Given the description of an element on the screen output the (x, y) to click on. 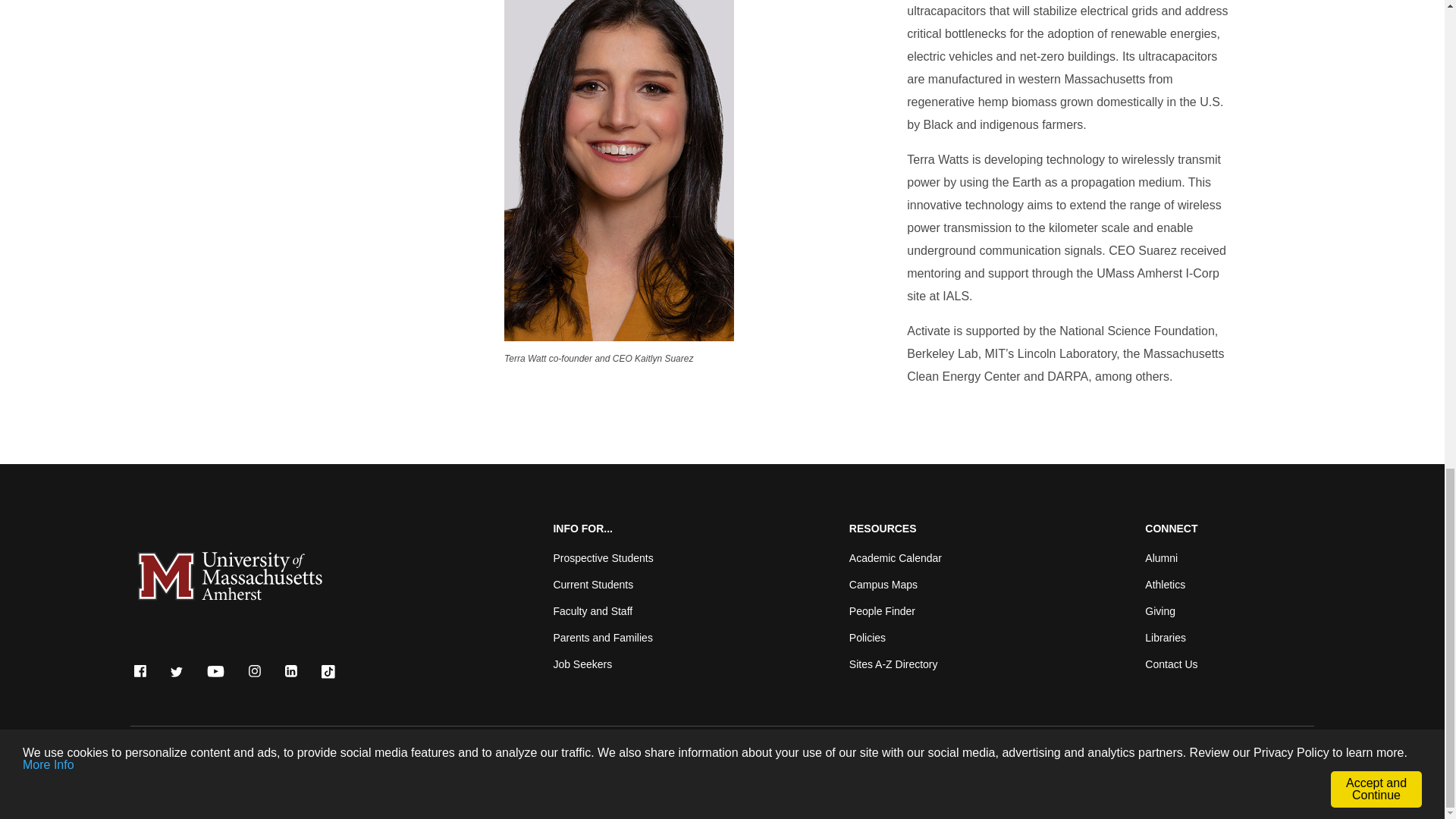
A-Z Directory (892, 664)
Click here for info for faculty and staff (592, 611)
Click here for info for current students (593, 584)
UMass Amherst non-discrimination policies (735, 754)
Click here for info for parents and families (602, 637)
UMass Amherst privacy policy (642, 754)
Info for Job Seekers (582, 664)
UMass Amherst Accessibility Resources (838, 754)
